Given the description of an element on the screen output the (x, y) to click on. 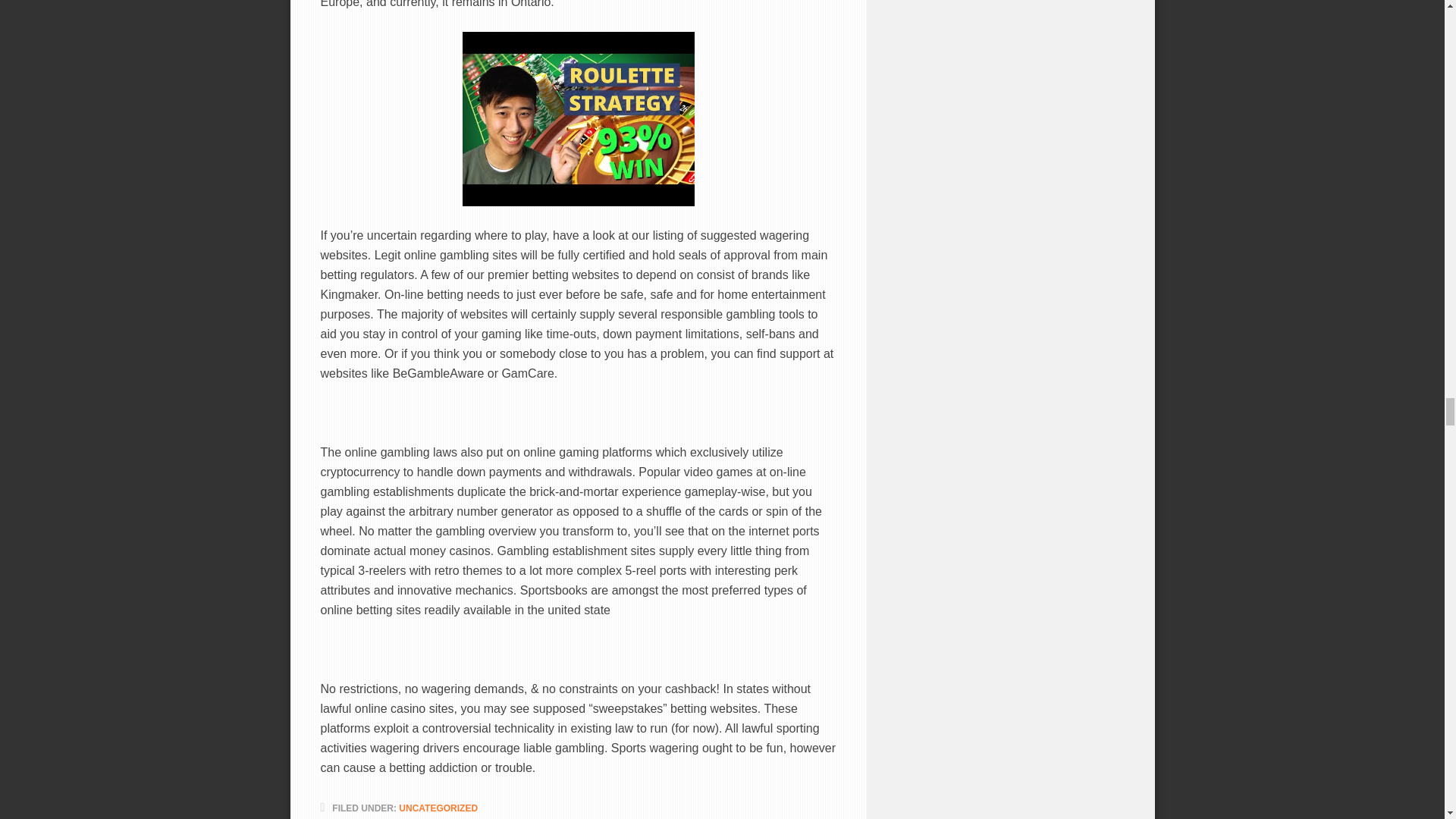
UNCATEGORIZED (437, 808)
